Given the description of an element on the screen output the (x, y) to click on. 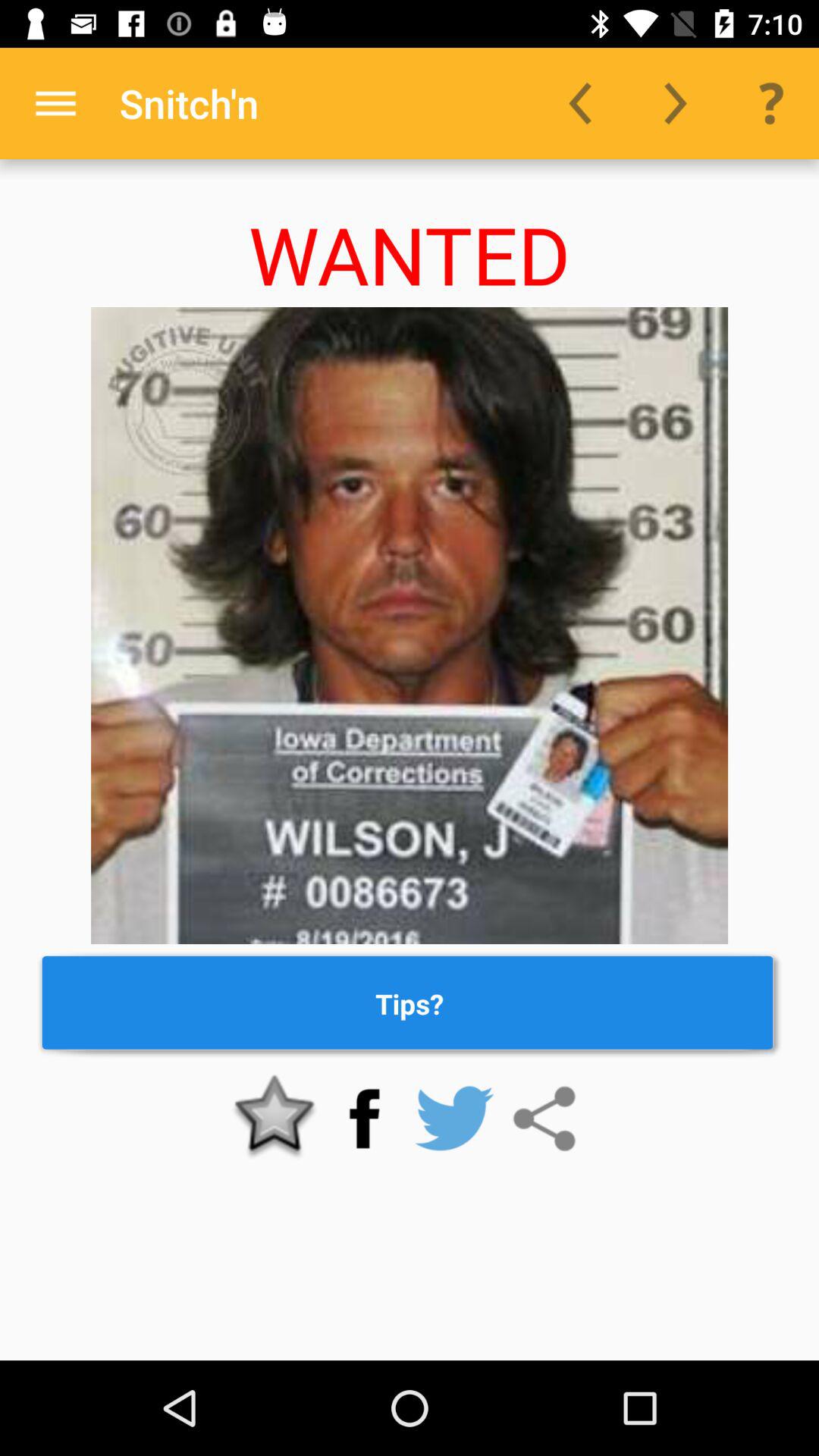
share on twitter (454, 1118)
